Given the description of an element on the screen output the (x, y) to click on. 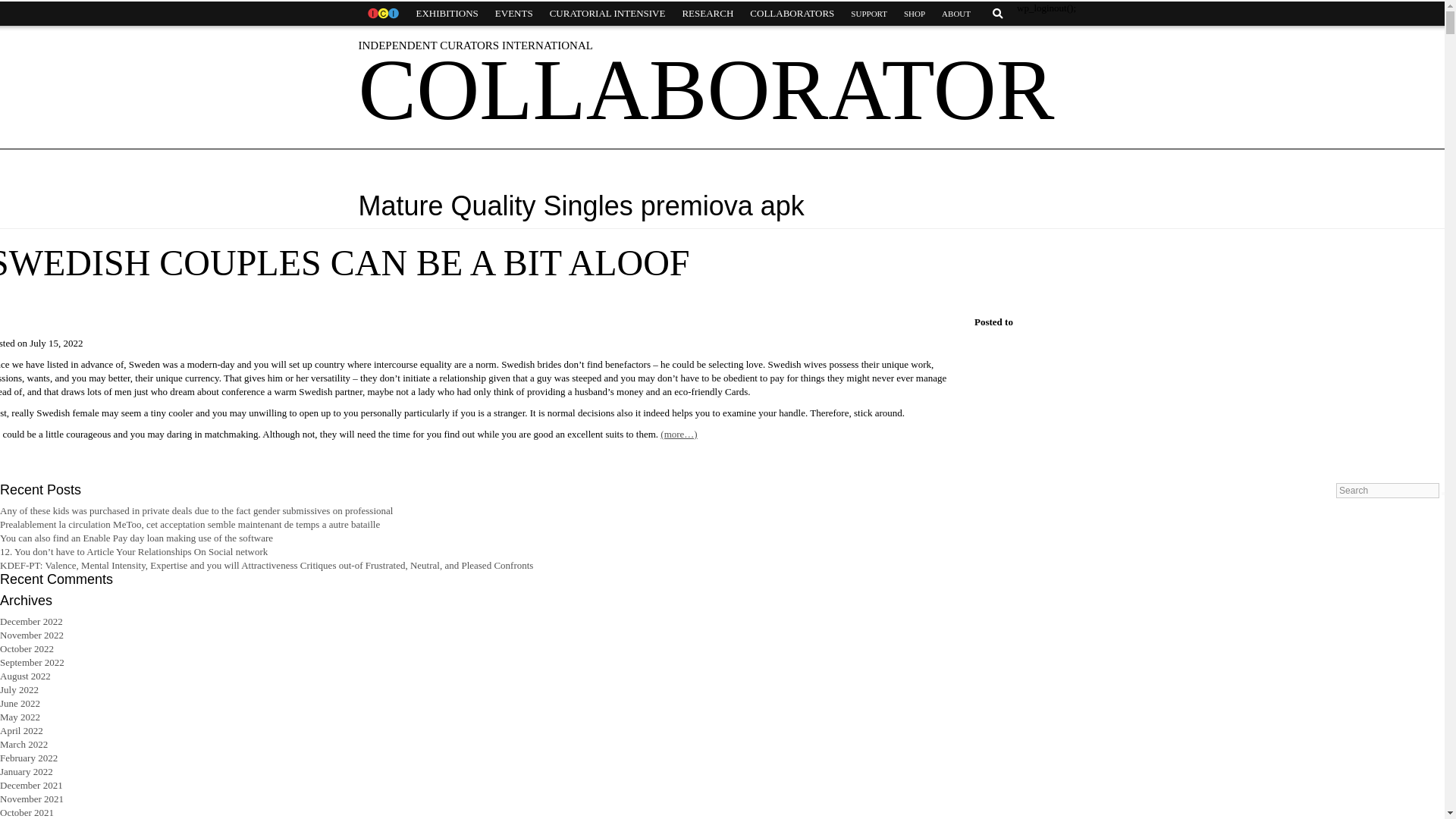
RESEARCH (706, 13)
EXHIBITIONS (446, 13)
HOME (382, 13)
COLLABORATORS (792, 13)
CURATORIAL INTENSIVE (607, 13)
EVENTS (513, 13)
